Given the description of an element on the screen output the (x, y) to click on. 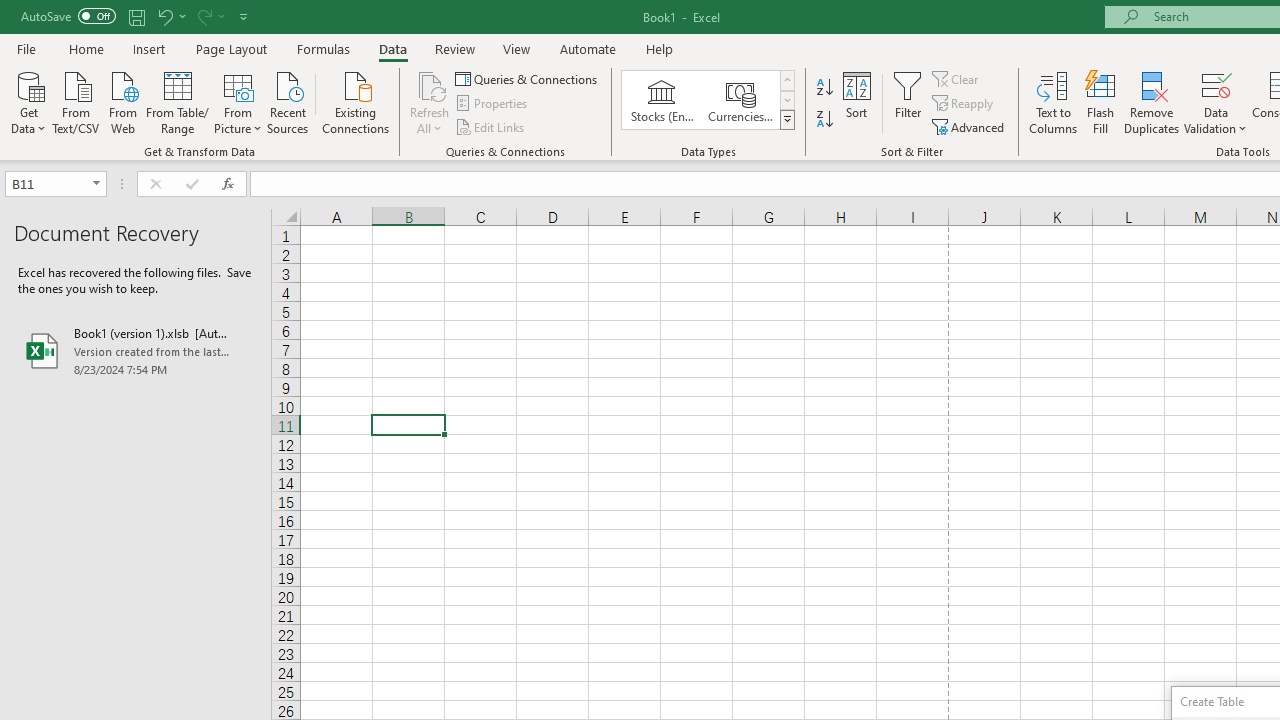
Reapply (964, 103)
From Picture (238, 101)
Sort Z to A (824, 119)
Sort A to Z (824, 87)
From Web (122, 101)
Remove Duplicates (1151, 102)
Properties (492, 103)
